Given the description of an element on the screen output the (x, y) to click on. 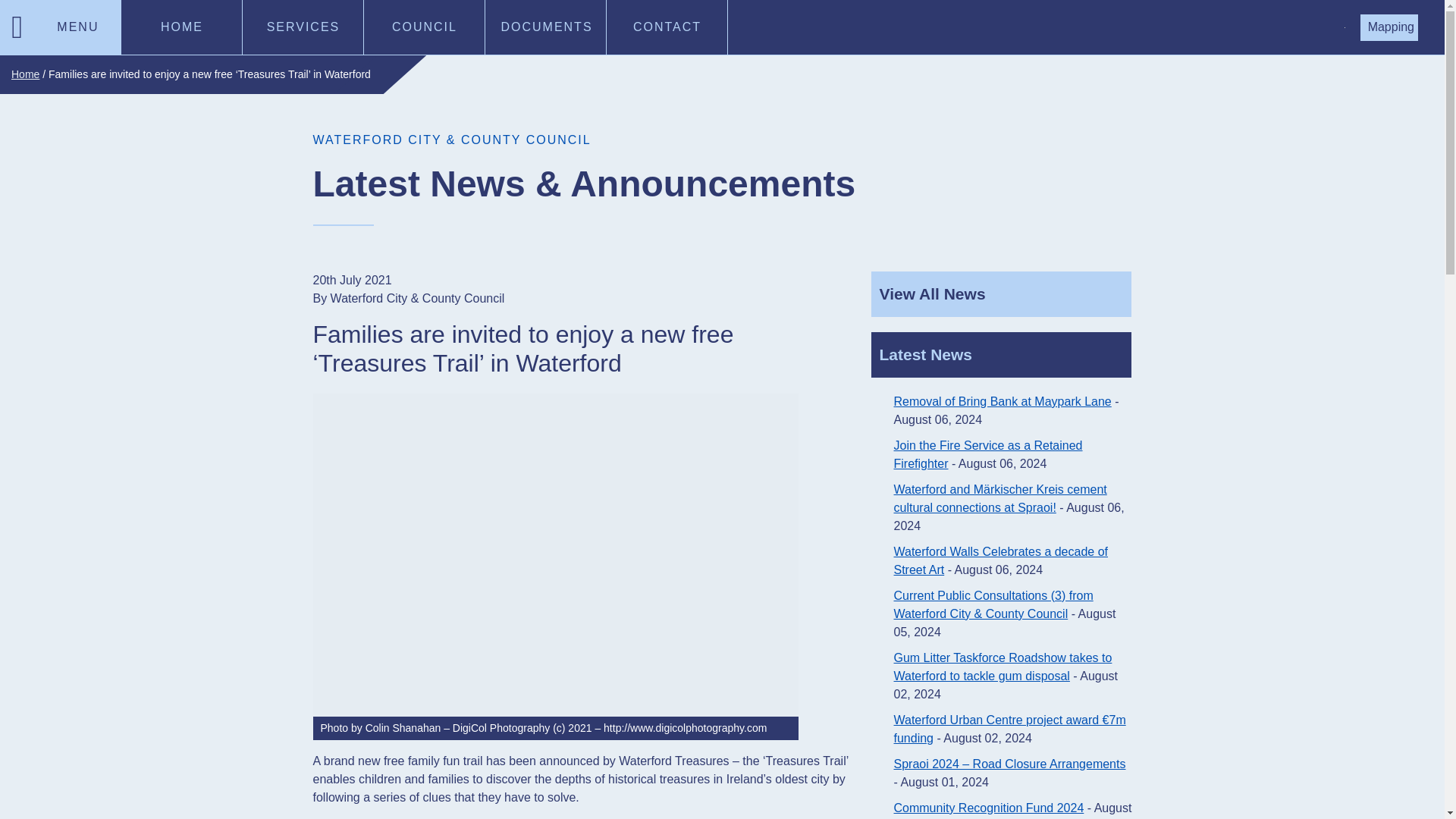
Removal of Bring Bank at Maypark Lane (1001, 400)
Community Recognition Fund 2024 (988, 807)
Waterford Walls Celebrates a decade of Street Art (1000, 560)
HOME (181, 27)
Join the Fire Service as a Retained Firefighter (987, 454)
View All News (1000, 293)
